Given the description of an element on the screen output the (x, y) to click on. 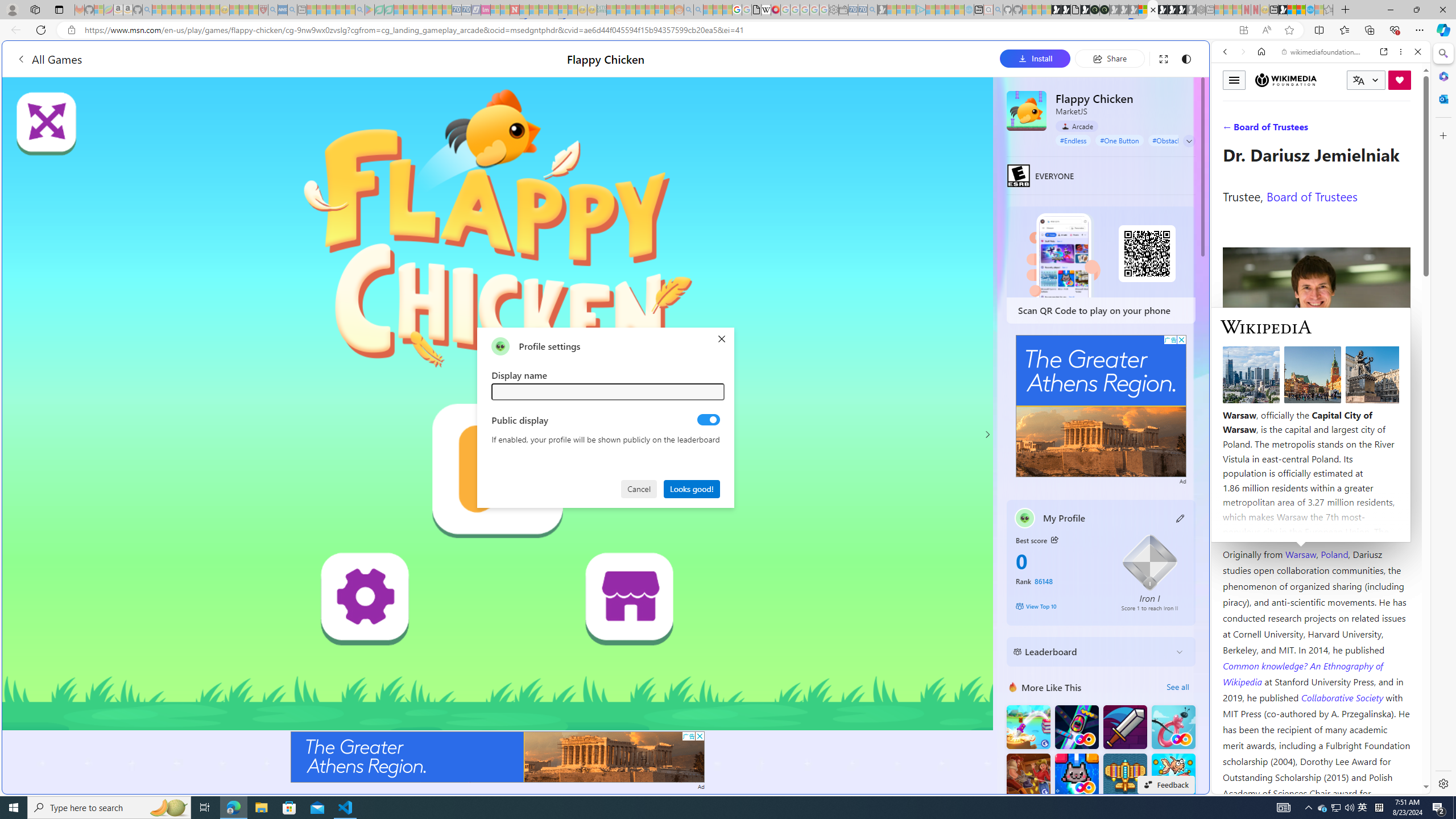
Collaborative Society  (1343, 697)
Settings - Sleeping (833, 9)
Balloon FRVR (1173, 726)
Wiktionary (1315, 380)
